Given the description of an element on the screen output the (x, y) to click on. 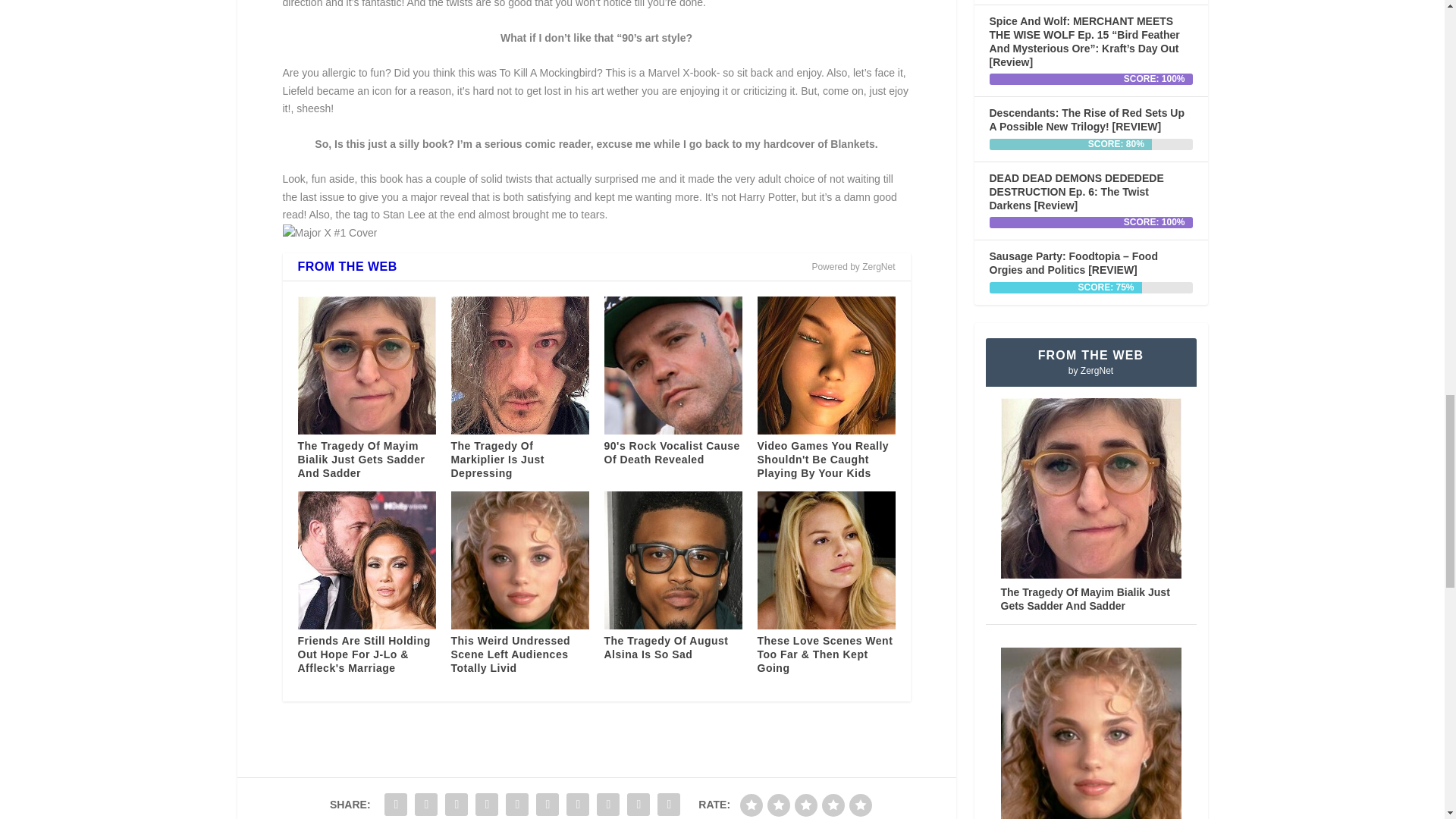
The Tragedy Of Mayim Bialik Just Gets Sadder And Sadder (361, 459)
Powered by ZergNet (852, 266)
